Given the description of an element on the screen output the (x, y) to click on. 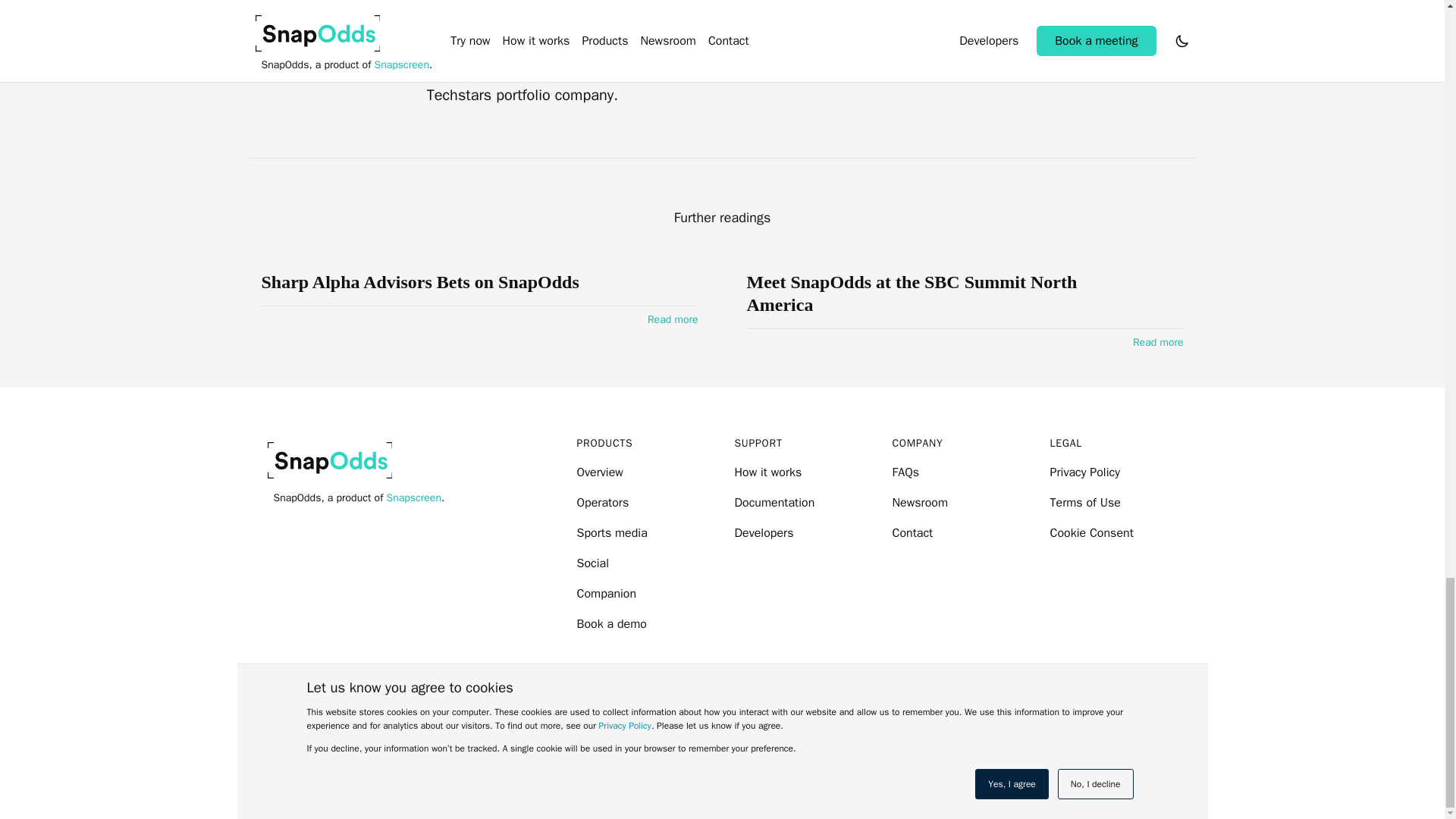
Read more (1157, 342)
Terms of Use (1084, 502)
Book a demo (611, 624)
FAQs (904, 472)
Read more (672, 320)
Documentation (773, 502)
Privacy Policy (1084, 472)
Developers (763, 533)
Visit Twitter Profile (673, 715)
Visit Github Profile (770, 715)
Meet SnapOdds at the SBC Summit North America (926, 293)
Social (592, 563)
Overview (599, 472)
Snapscreen (414, 498)
Contact (912, 533)
